Given the description of an element on the screen output the (x, y) to click on. 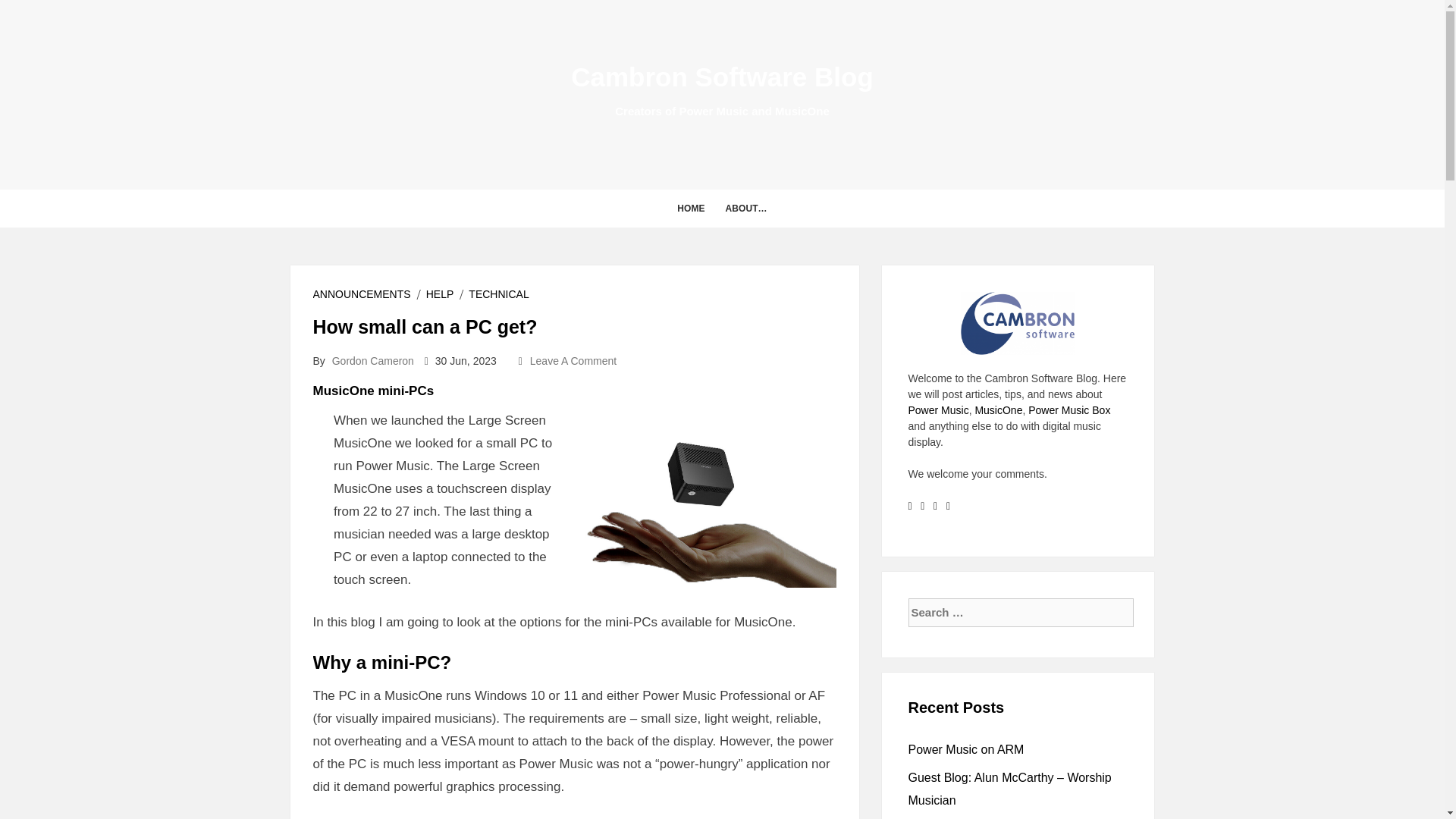
Power Music on ARM (966, 748)
TECHNICAL (498, 294)
Search (24, 10)
Leave A Comment (572, 360)
Home (690, 208)
Gordon Cameron (372, 360)
Power Music Box (1068, 410)
Power Music (938, 410)
ANNOUNCEMENTS (361, 294)
HELP (440, 294)
MusicOne (998, 410)
Cambron Software Blog (721, 76)
HOME (690, 208)
